Given the description of an element on the screen output the (x, y) to click on. 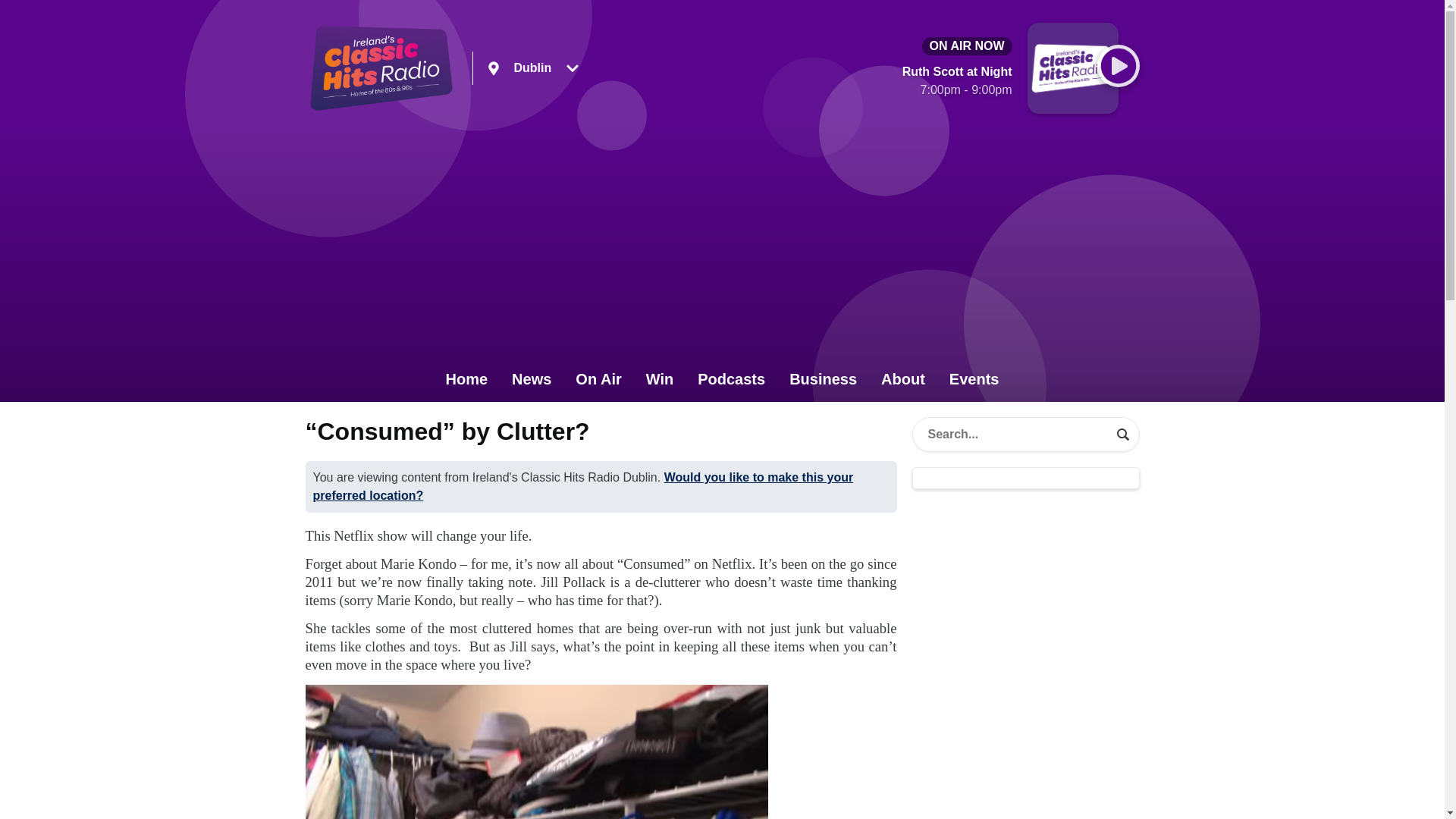
Dublin (532, 68)
Podcasts (731, 379)
On Air (598, 379)
Win (659, 379)
Home (466, 379)
Business (823, 379)
Ruth Scott at Night (956, 83)
About (903, 379)
News (531, 379)
